Given the description of an element on the screen output the (x, y) to click on. 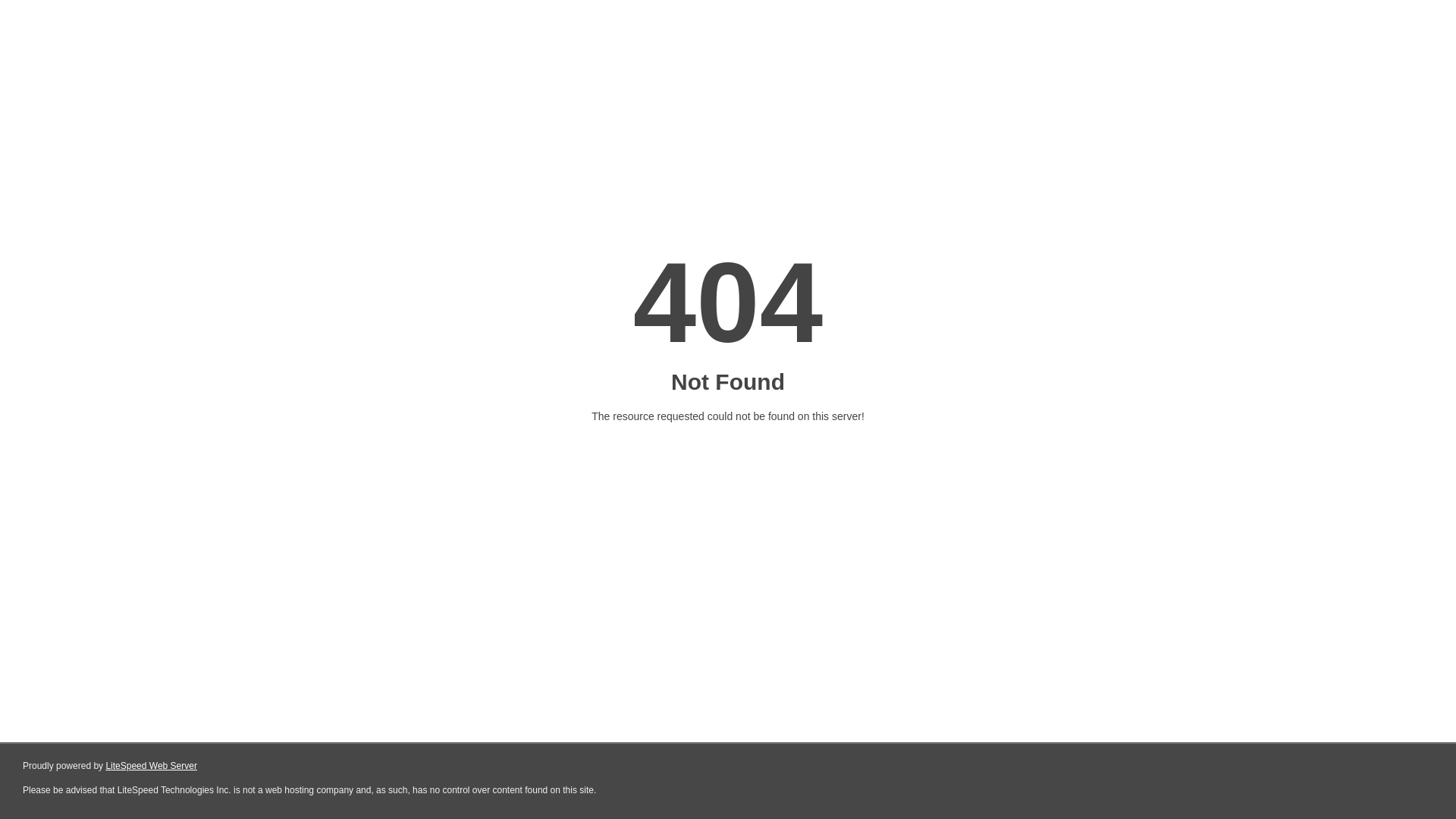
LiteSpeed Web Server Element type: text (151, 765)
